Given the description of an element on the screen output the (x, y) to click on. 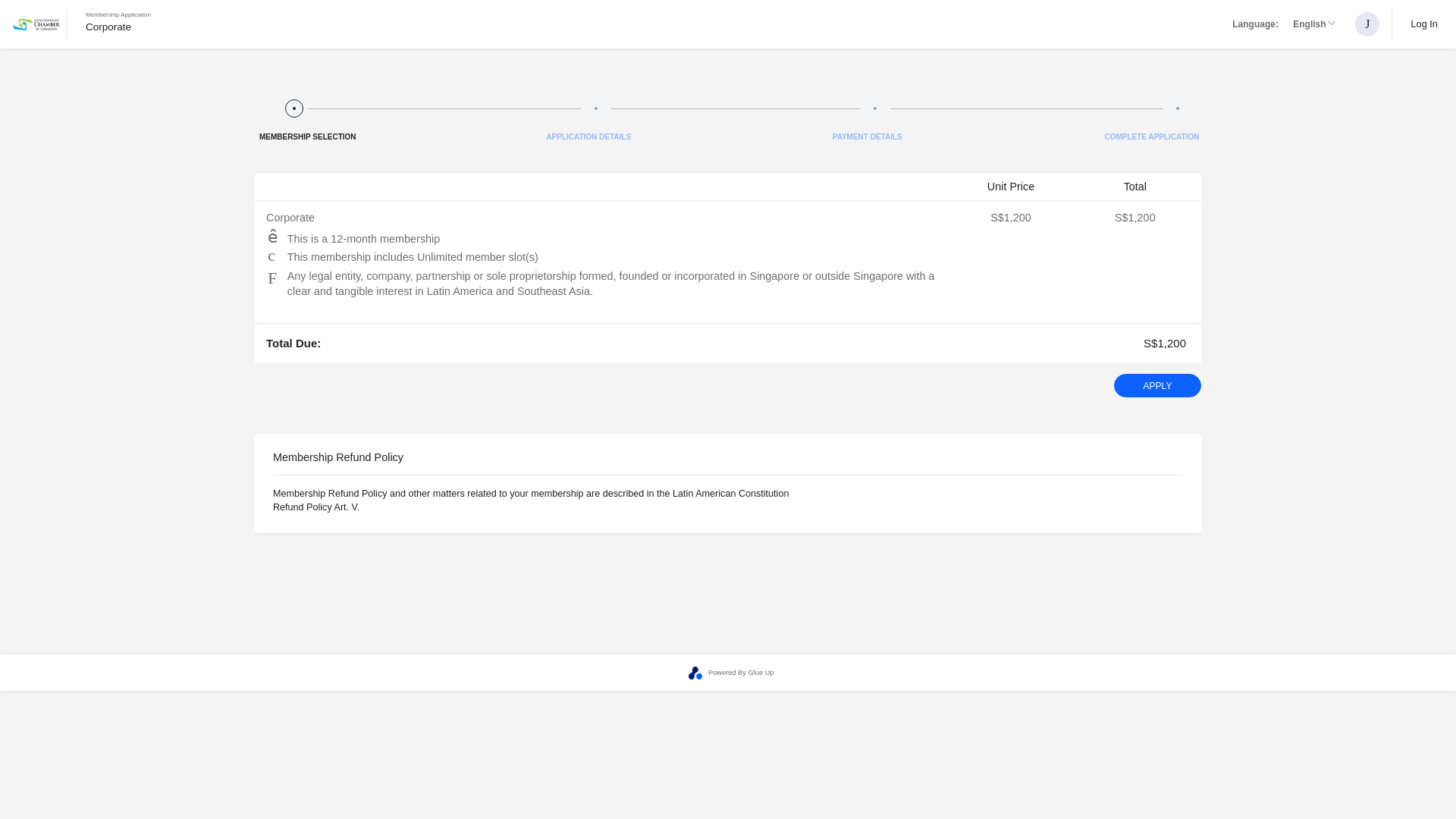
Corporate (108, 27)
The Latin American Chamber of Commerce, Singapore logo (118, 26)
APPLY (35, 24)
